Given the description of an element on the screen output the (x, y) to click on. 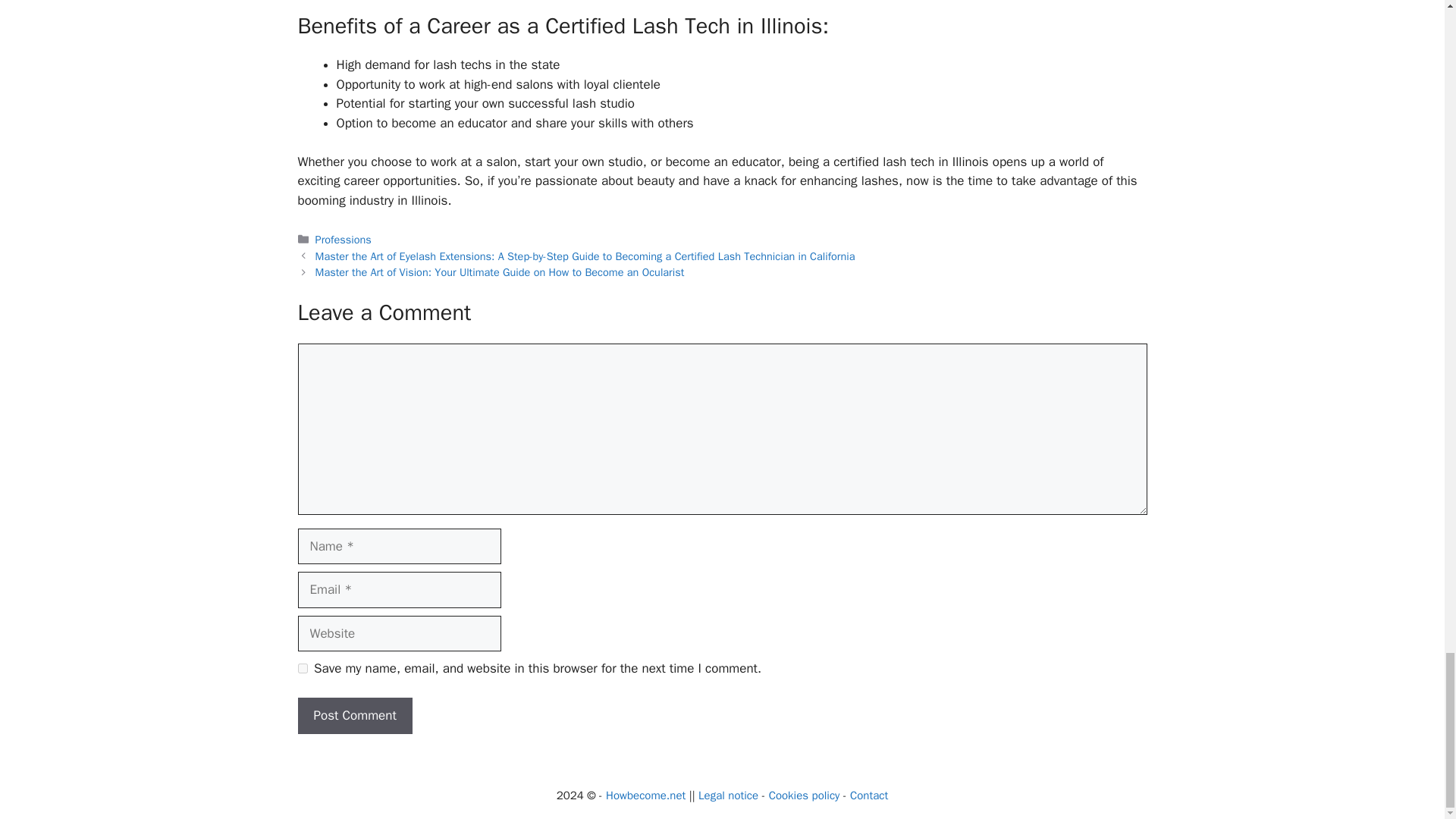
Contact (869, 795)
Next (499, 272)
Post Comment (354, 715)
Post Comment (354, 715)
Howbecome.net (645, 795)
yes (302, 668)
Cookies policy (804, 795)
Legal notice (728, 795)
Professions (343, 239)
Previous (585, 255)
